Given the description of an element on the screen output the (x, y) to click on. 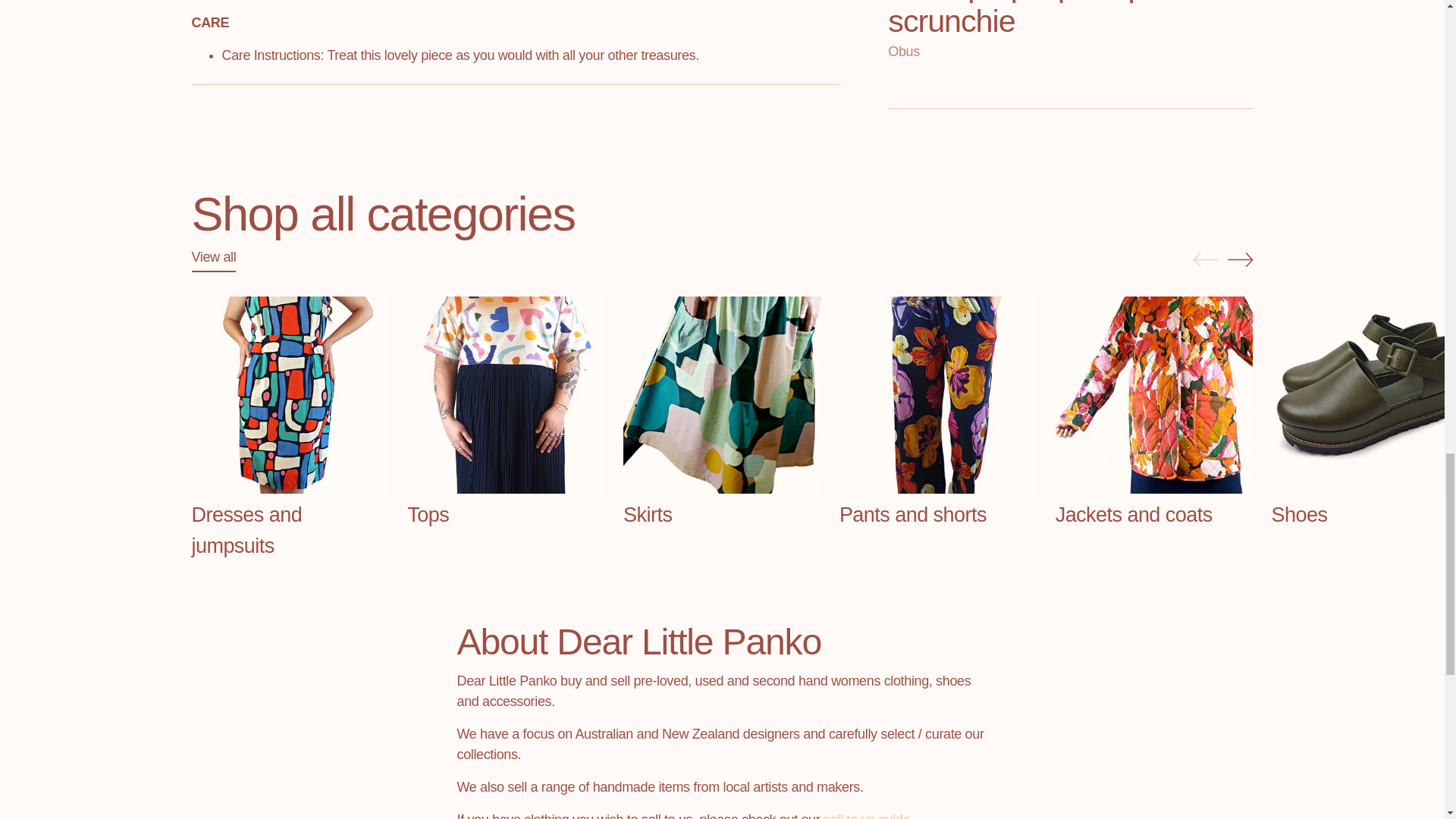
Sell to us (867, 815)
